Given the description of an element on the screen output the (x, y) to click on. 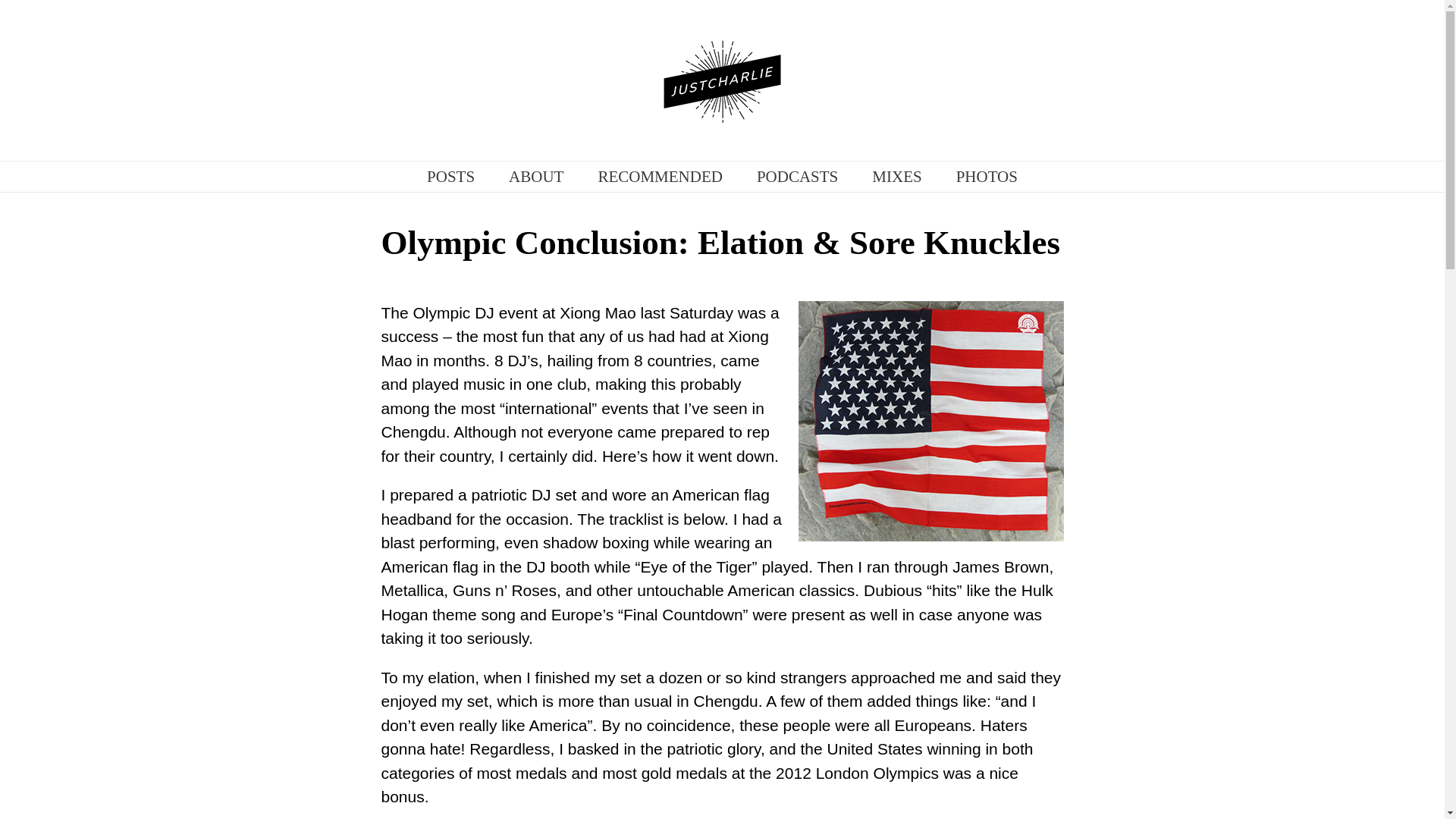
MIXES (896, 176)
ABOUT (535, 176)
PHOTOS (986, 176)
American Flag Bandana (929, 420)
PODCASTS (797, 176)
POSTS (450, 176)
RECOMMENDED (659, 176)
